Given the description of an element on the screen output the (x, y) to click on. 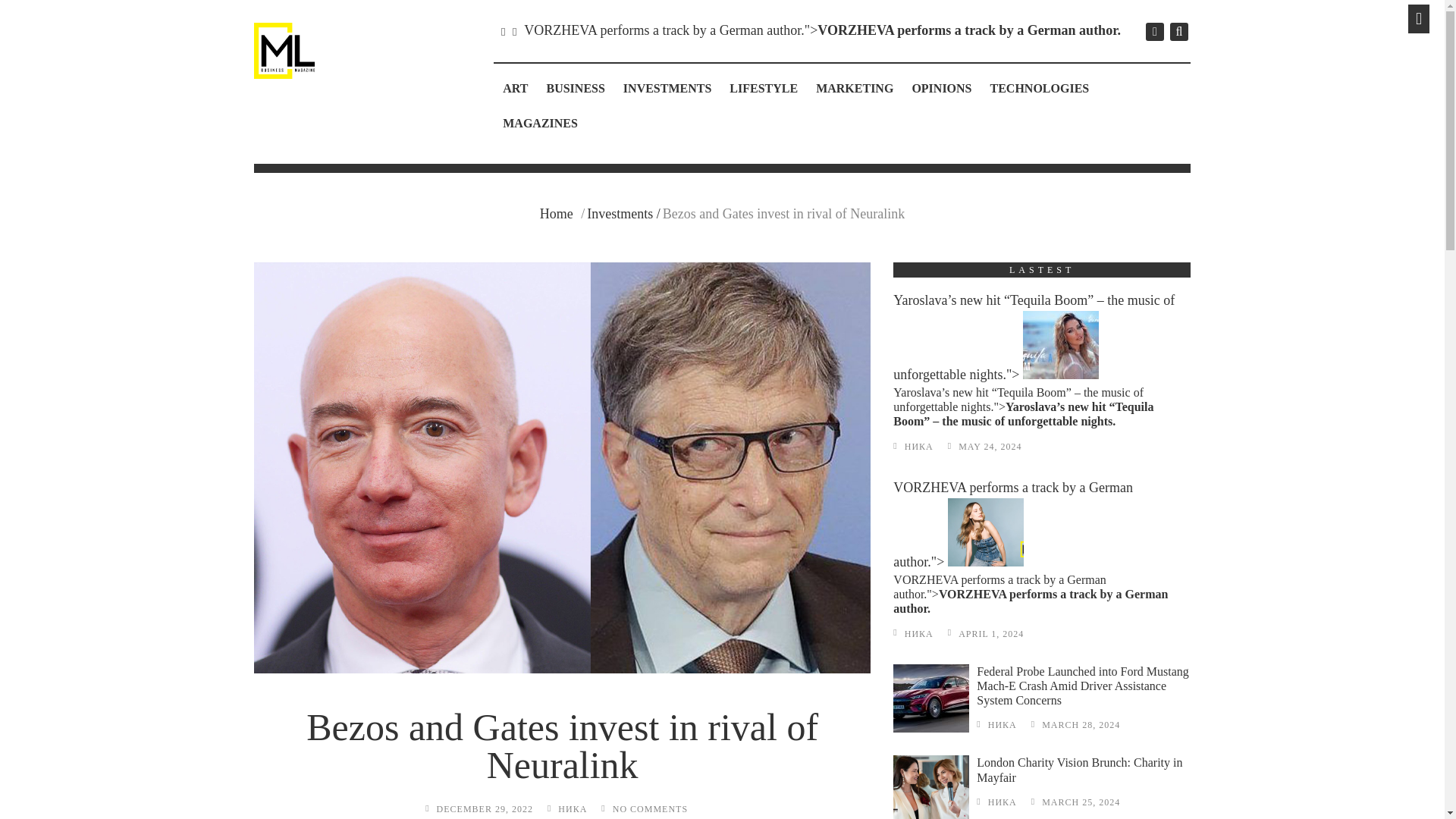
instagram (1154, 31)
